Given the description of an element on the screen output the (x, y) to click on. 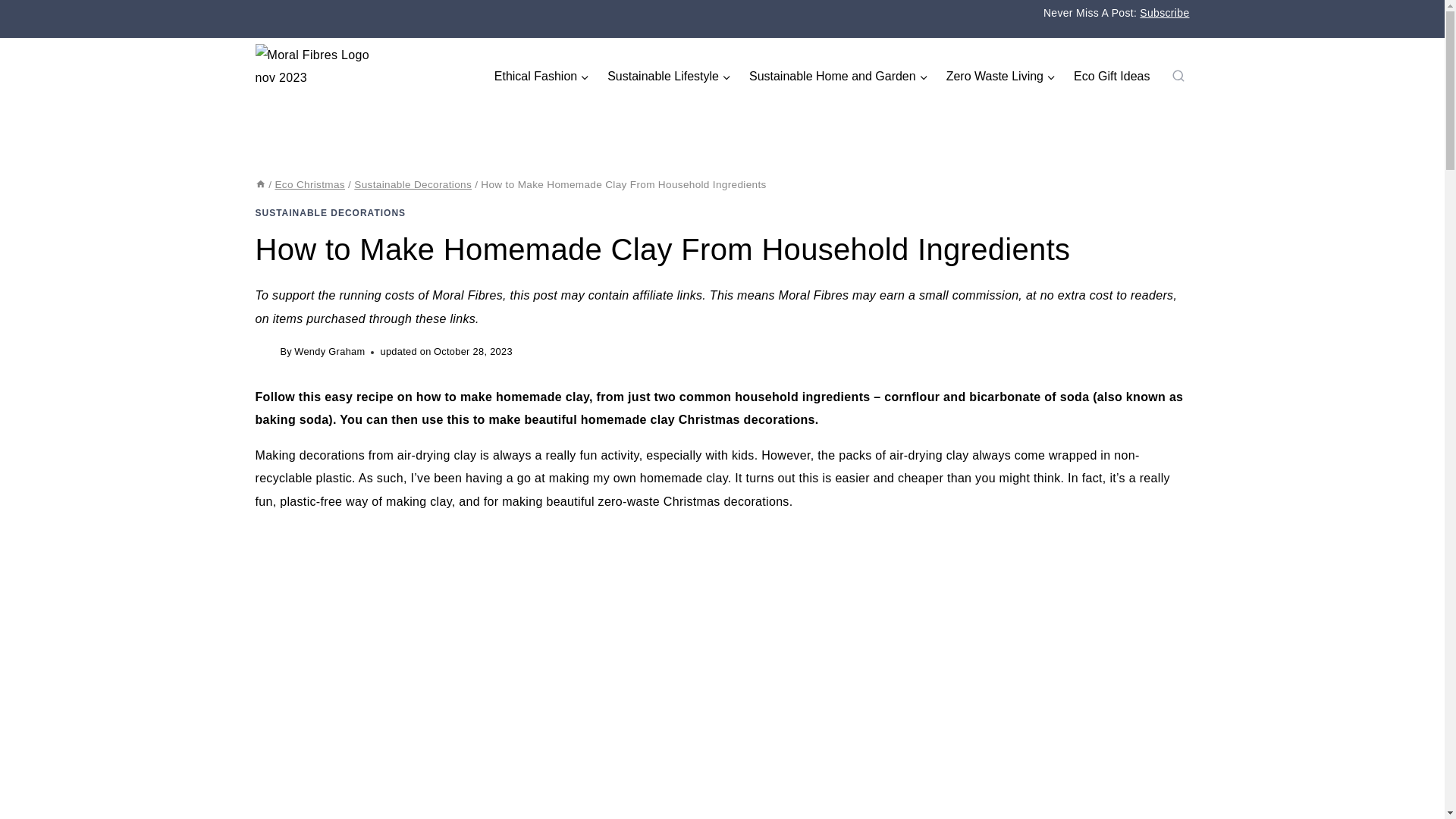
Sustainable Home and Garden (838, 76)
Subscribe (1164, 12)
Home (259, 184)
Eco Gift Ideas (1111, 76)
Sustainable Lifestyle (668, 76)
Zero Waste Living (1000, 76)
Ethical Fashion (541, 76)
